Given the description of an element on the screen output the (x, y) to click on. 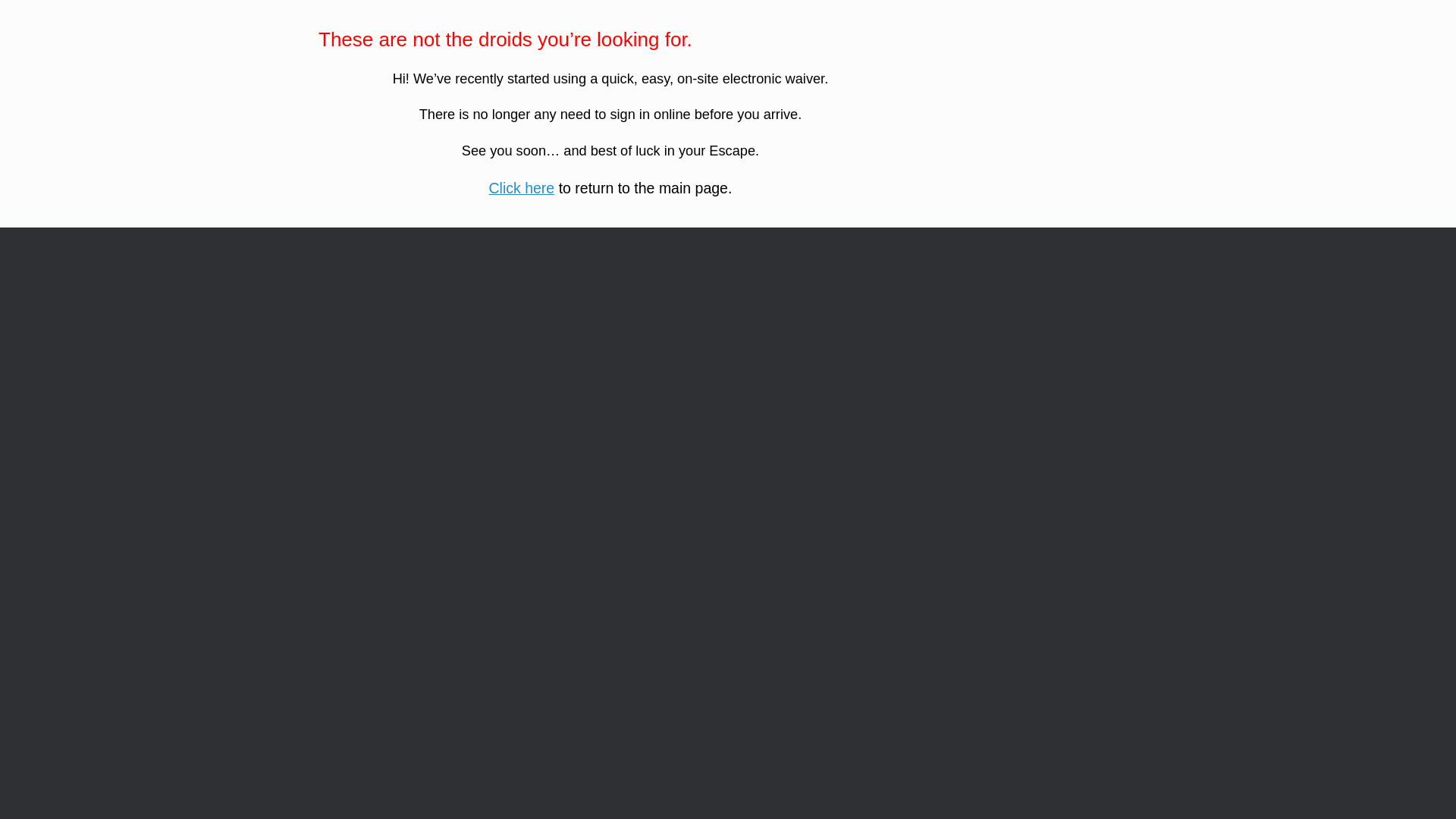
Click here (521, 187)
